Given the description of an element on the screen output the (x, y) to click on. 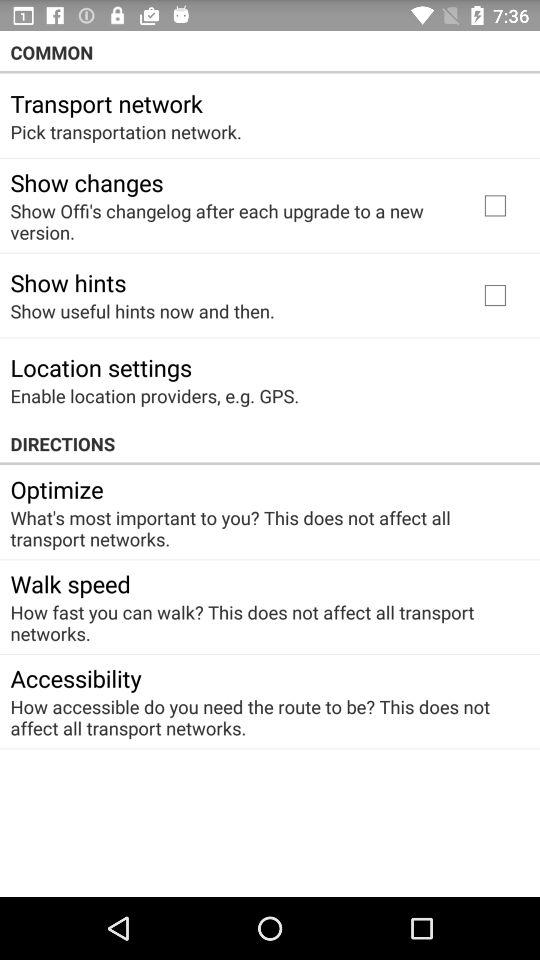
turn on enable location providers (154, 395)
